Given the description of an element on the screen output the (x, y) to click on. 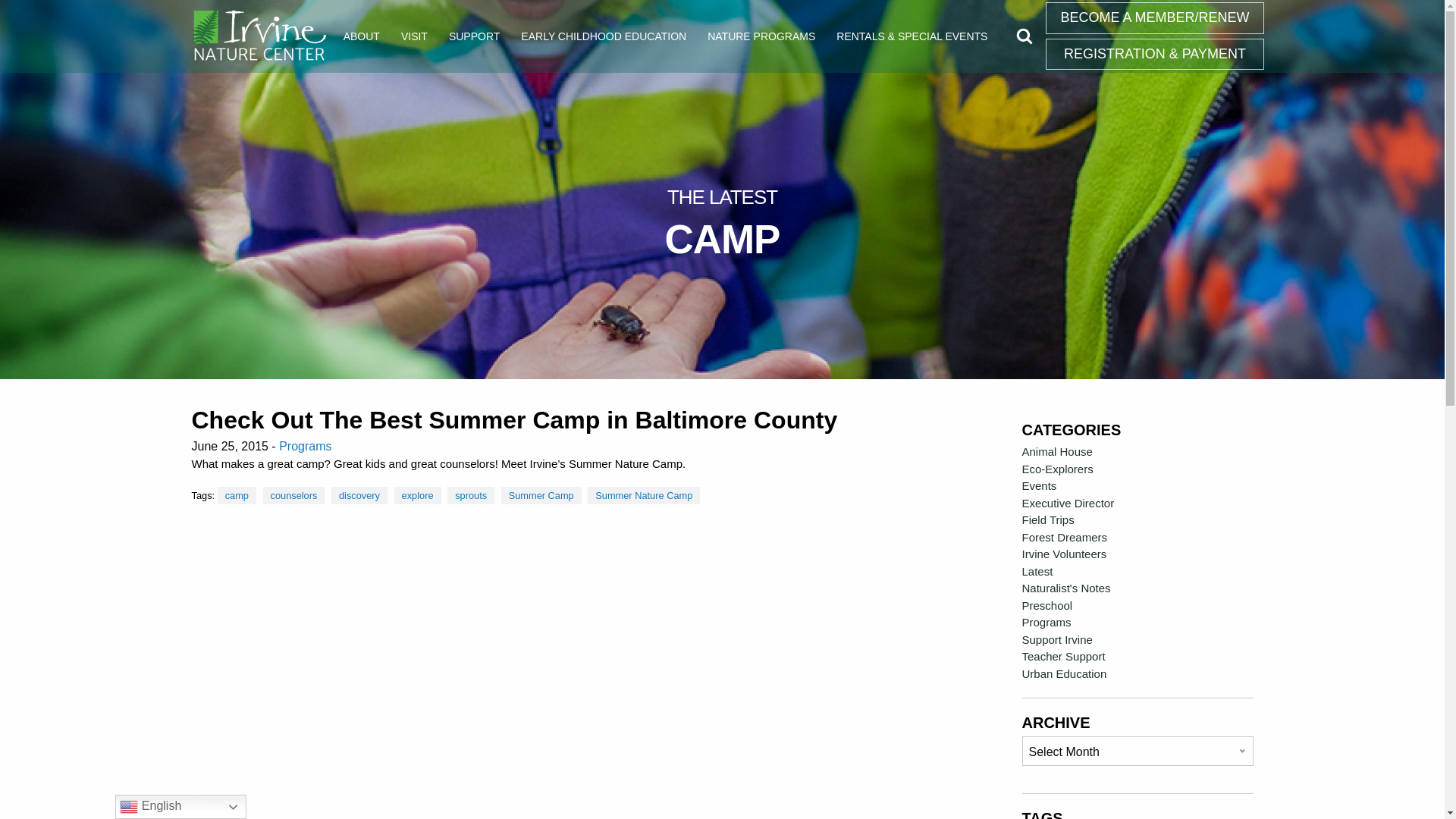
VISIT (414, 35)
Search (1024, 36)
ABOUT (361, 35)
SUPPORT (474, 35)
Irvine Nature Center (257, 36)
Search for: (1025, 36)
Irvine Nature Center (257, 36)
Search (1024, 36)
EARLY CHILDHOOD EDUCATION (604, 35)
NATURE PROGRAMS (761, 35)
